Given the description of an element on the screen output the (x, y) to click on. 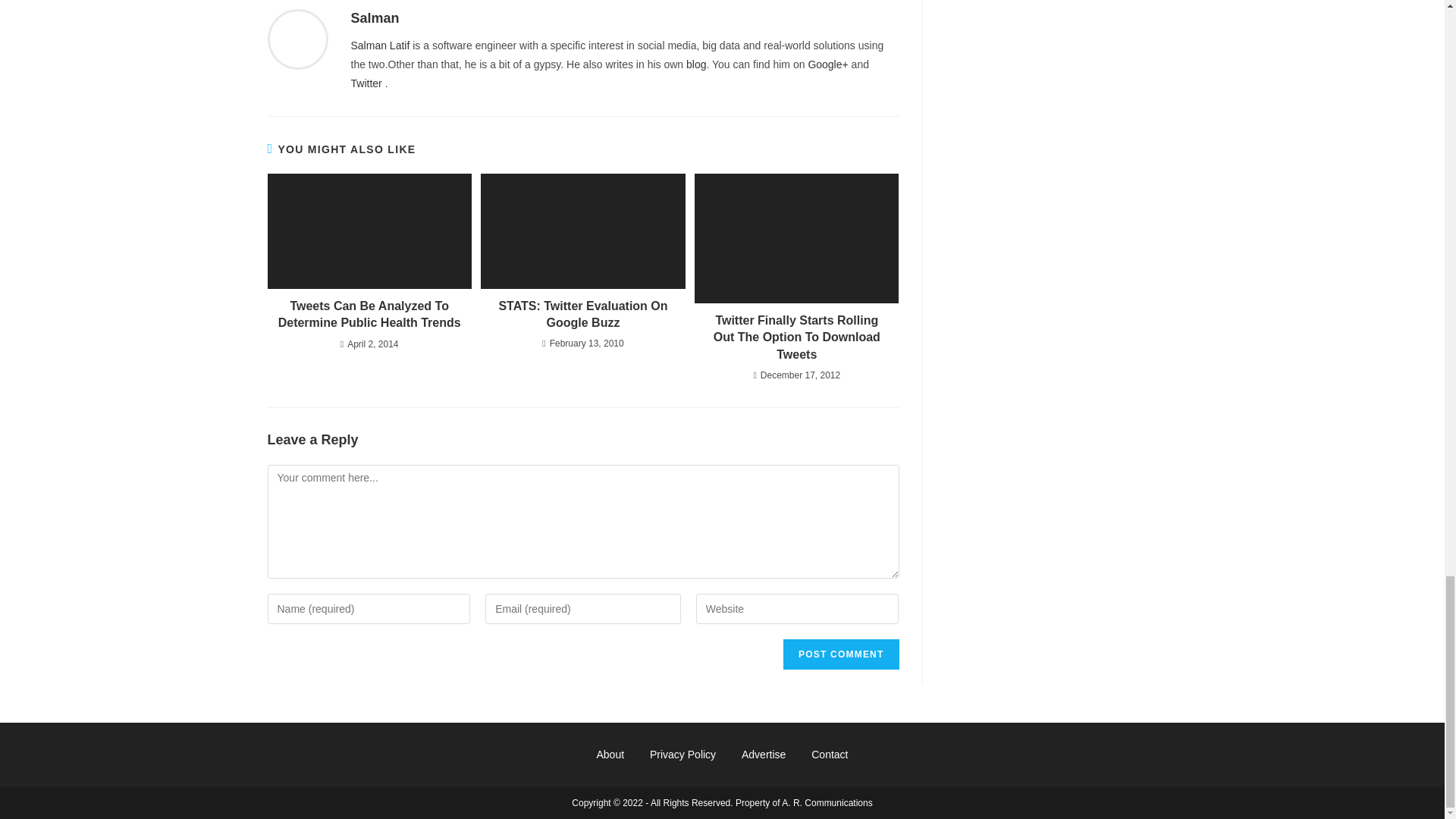
Post Comment (840, 654)
Visit author page (374, 17)
All Post By Salman Latif in TheTechJournal (379, 45)
Visit author page (296, 38)
